Given the description of an element on the screen output the (x, y) to click on. 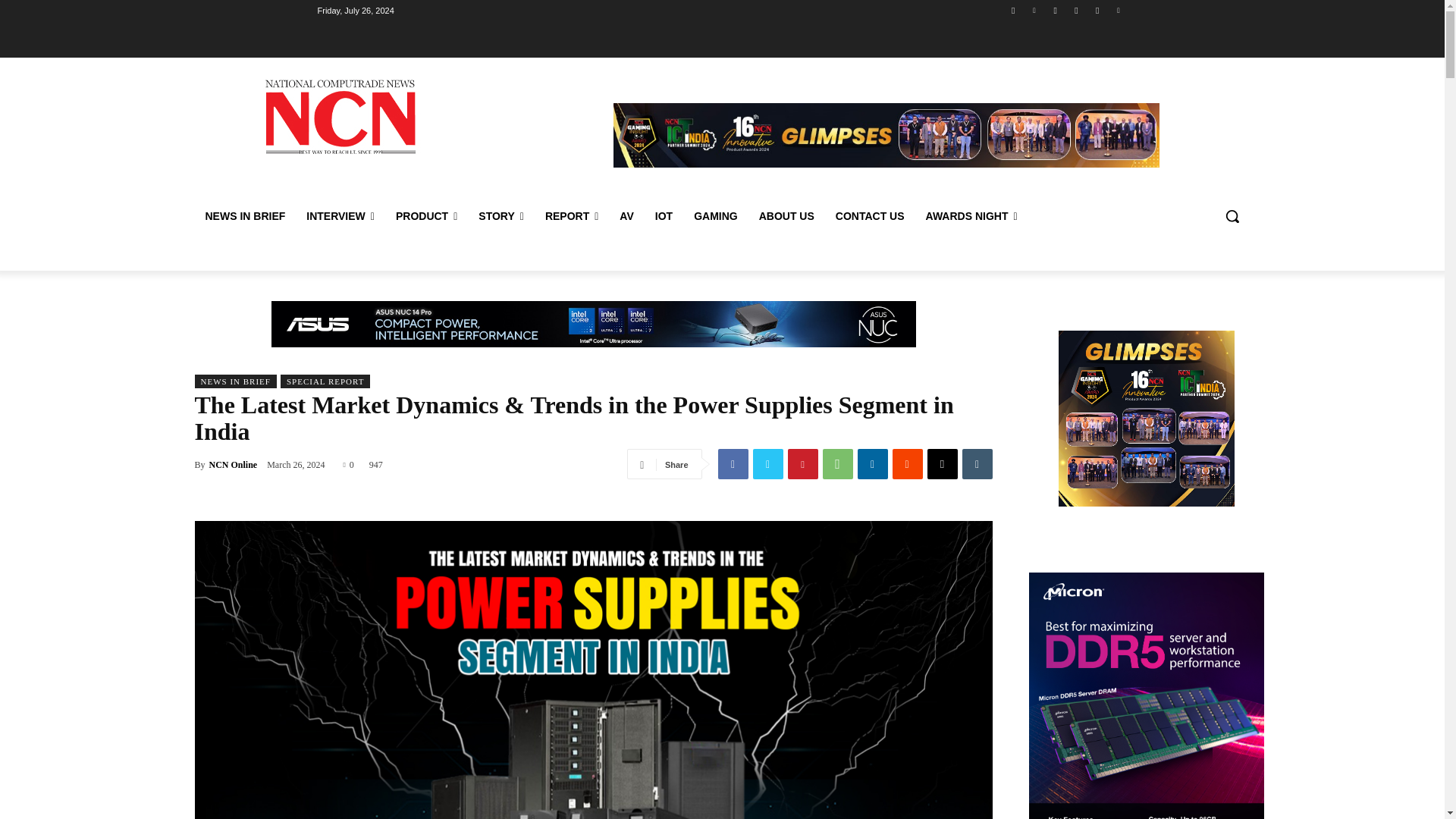
Linkedin (1034, 9)
NEWS IN BRIEF (244, 216)
Twitter (1055, 9)
REPORT (571, 216)
Instagram (1075, 9)
WhatsApp (836, 463)
Facebook (732, 463)
Pinterest (801, 463)
PRODUCT (426, 216)
Youtube (1097, 9)
Facebook (1013, 9)
Pinterest (1117, 9)
Tumblr (975, 463)
INTERVIEW (340, 216)
Email (941, 463)
